Given the description of an element on the screen output the (x, y) to click on. 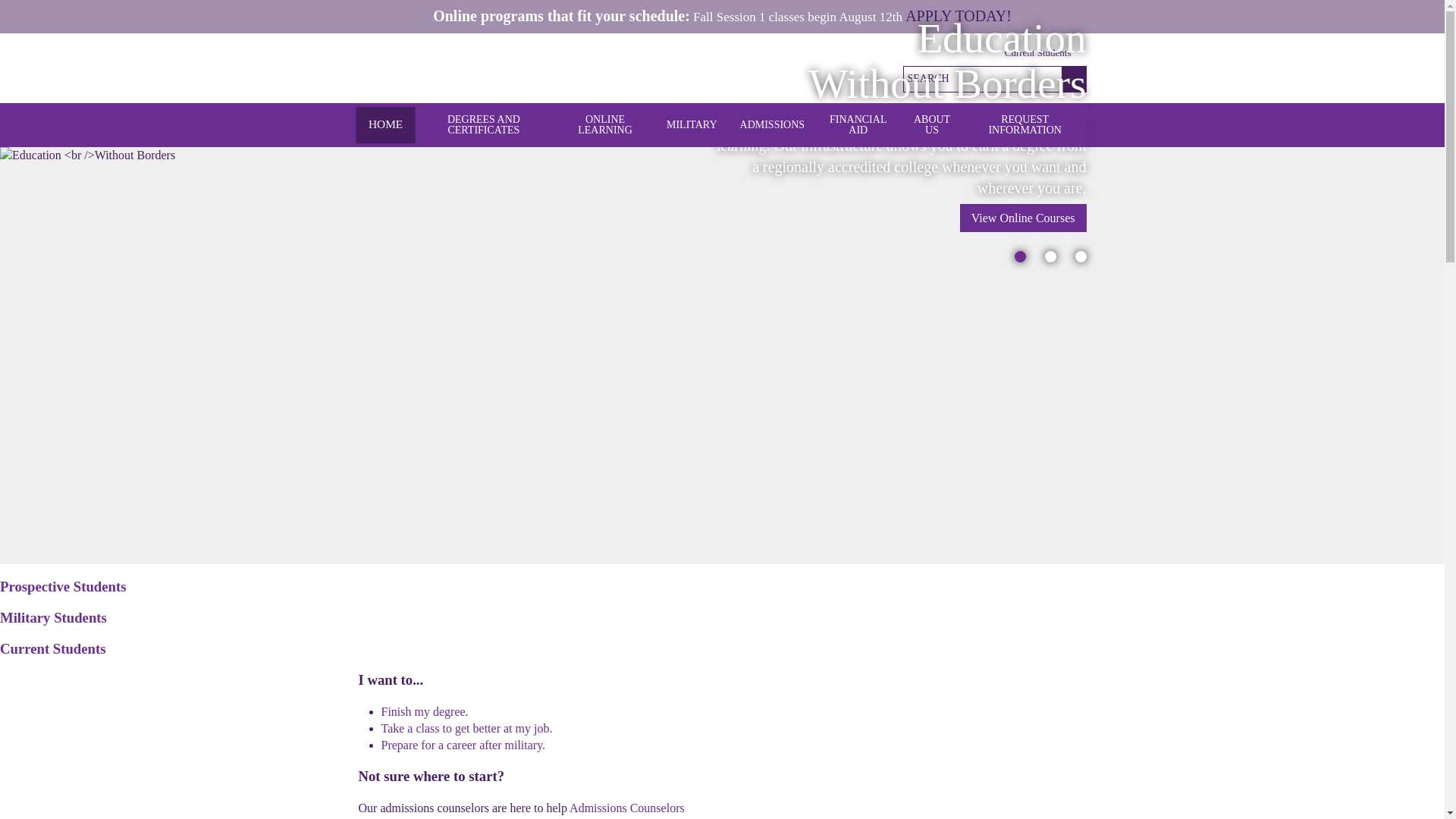
Email Us (820, 78)
Current Students (1045, 53)
FINANCIAL AID (857, 125)
Current Students (1045, 53)
Request Info (853, 78)
APPLY TODAY! (958, 15)
ADMISSIONS (772, 124)
Military  (692, 124)
Call Now 1.888.684.5335 (789, 78)
ABOUT US (930, 125)
MILITARY (692, 124)
DEGREES AND CERTIFICATES (483, 125)
Search (1073, 78)
Home (382, 123)
Request Info (853, 78)
